Given the description of an element on the screen output the (x, y) to click on. 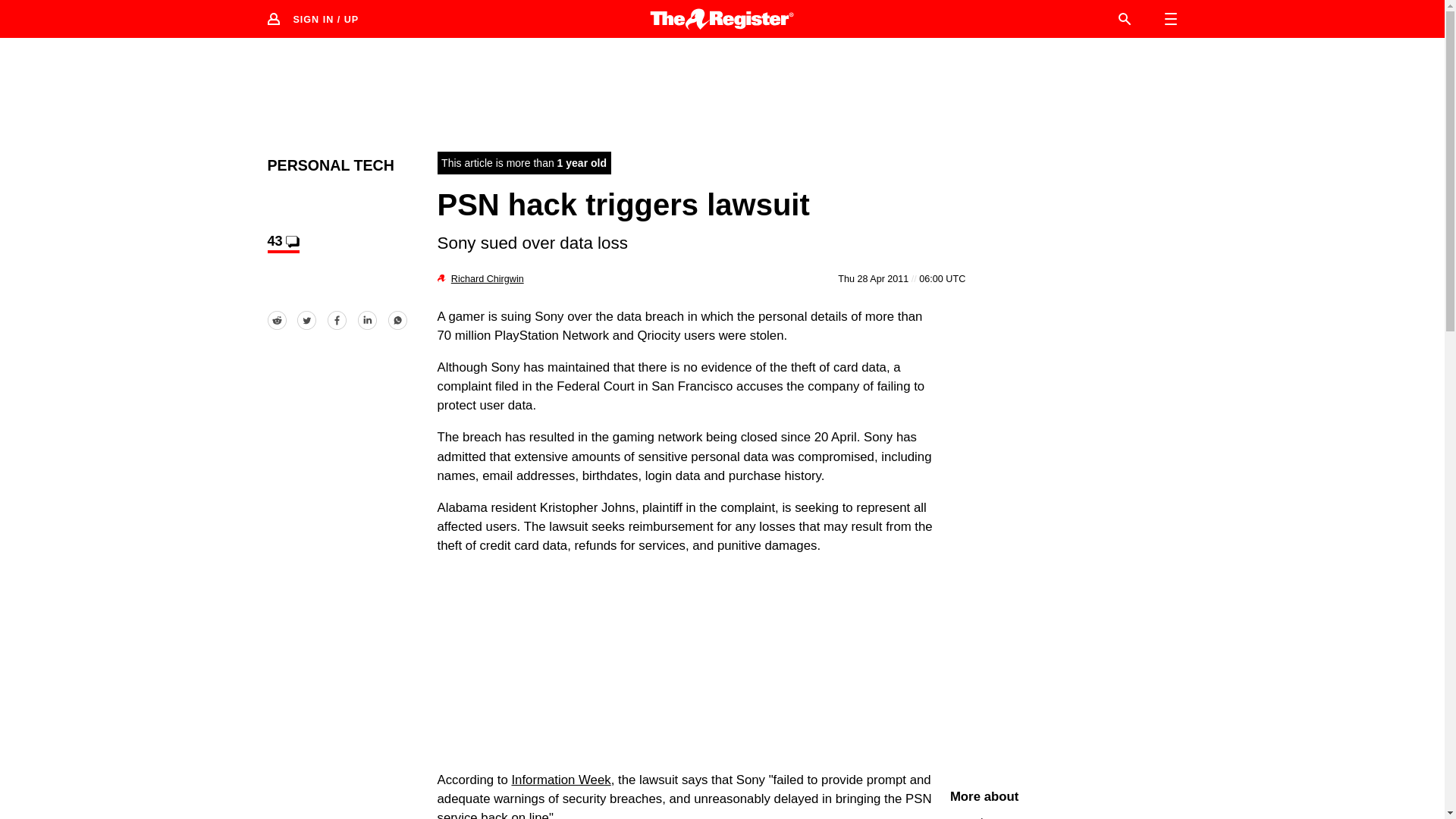
Read more by this author (487, 278)
View comments on this article (282, 243)
